Given the description of an element on the screen output the (x, y) to click on. 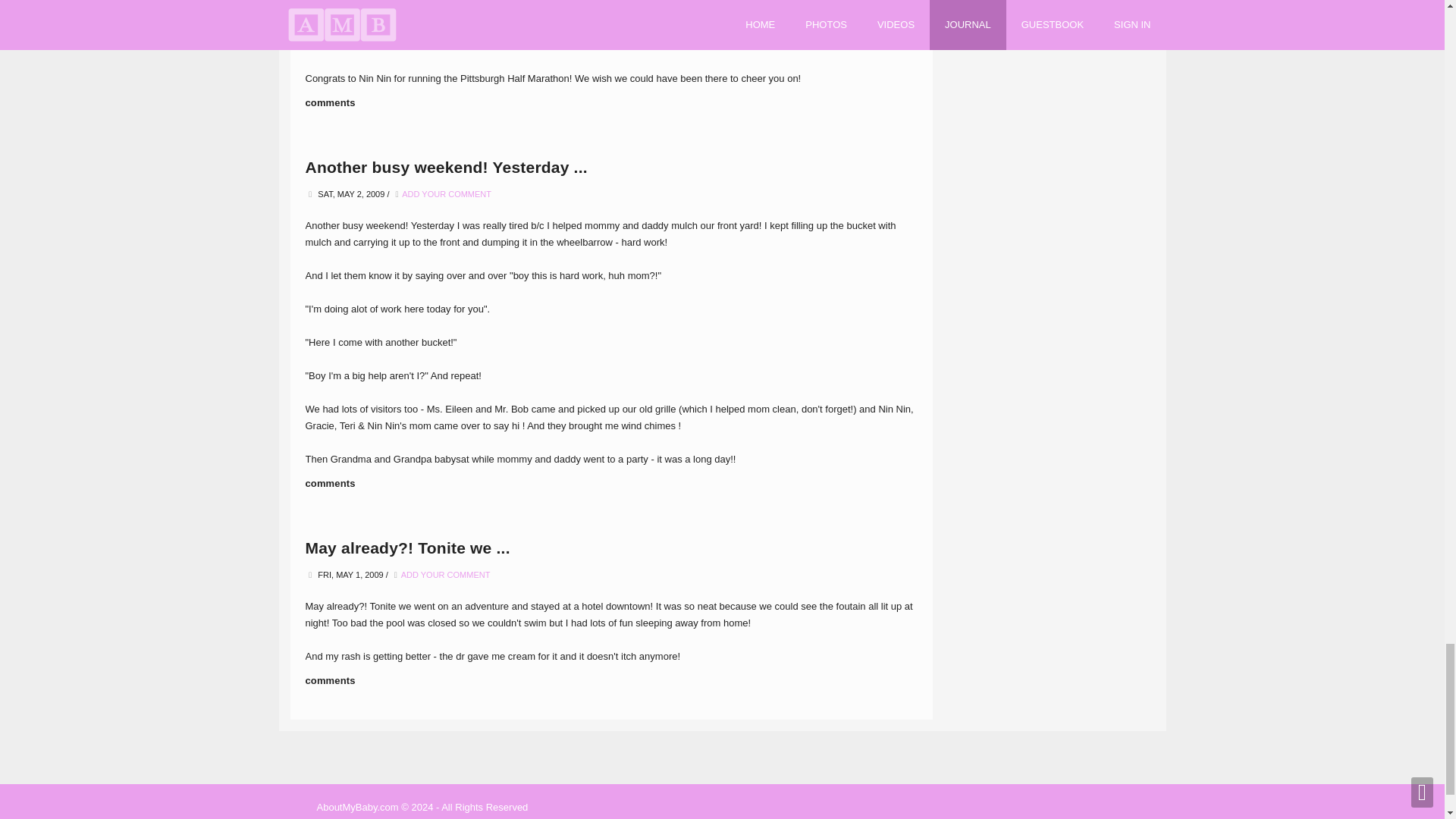
ADD YOUR COMMENT (445, 574)
ADD YOUR COMMENT (449, 0)
ADD YOUR COMMENT (446, 194)
